Given the description of an element on the screen output the (x, y) to click on. 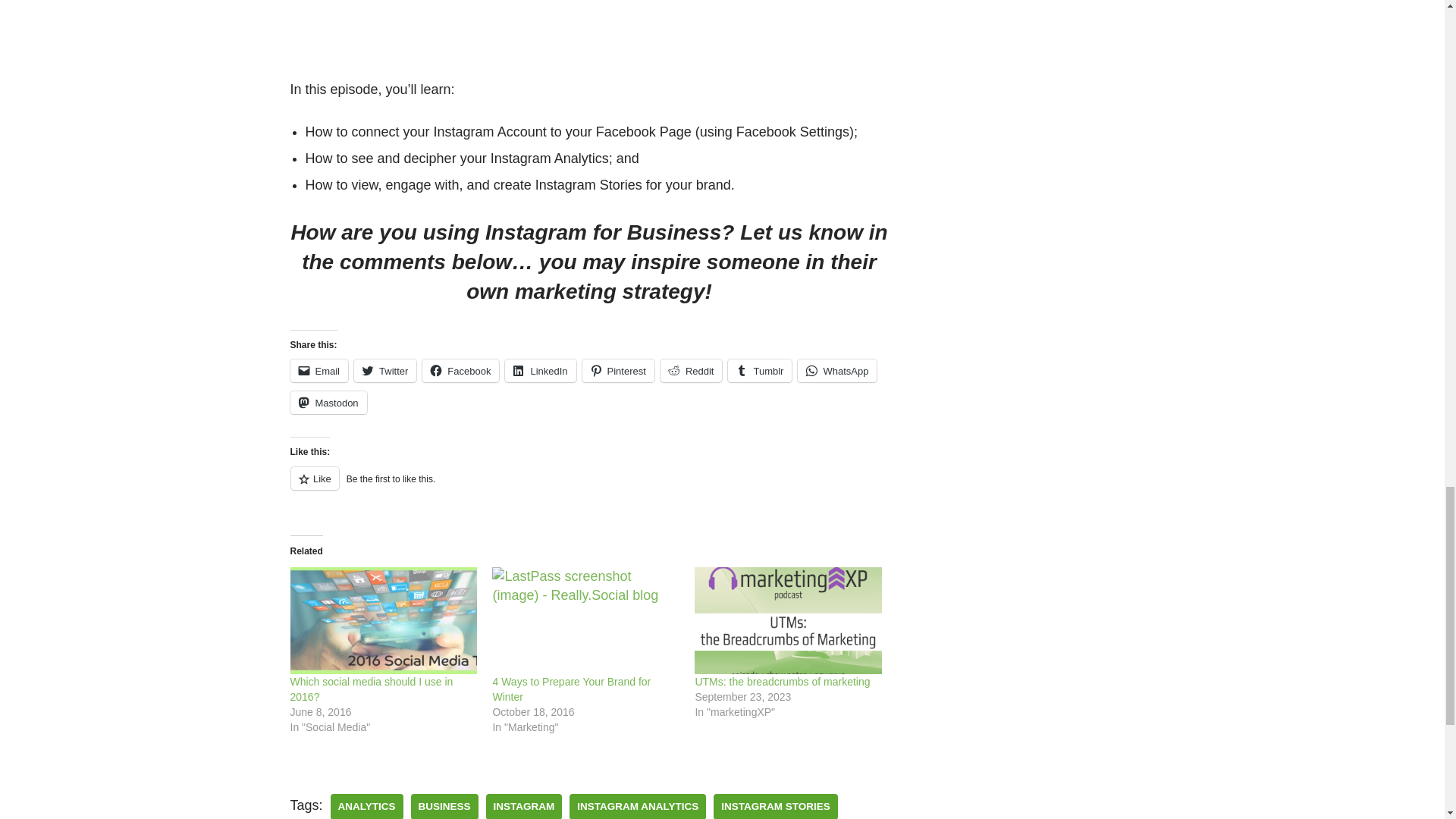
Click to share on Mastodon (327, 402)
Which social media should I use in 2016? (370, 688)
UTMs: the breadcrumbs of marketing (788, 620)
Click to share on Reddit (691, 370)
Click to share on Tumblr (760, 370)
Click to share on Facebook (460, 370)
YouTube player (588, 29)
Click to email a link to a friend (318, 370)
Like or Reblog (588, 486)
Click to share on WhatsApp (836, 370)
4 Ways to Prepare Your Brand for Winter (571, 688)
4 Ways to Prepare Your Brand for Winter (585, 620)
Which social media should I use in 2016? (383, 620)
Click to share on Twitter (384, 370)
Click to share on LinkedIn (540, 370)
